Given the description of an element on the screen output the (x, y) to click on. 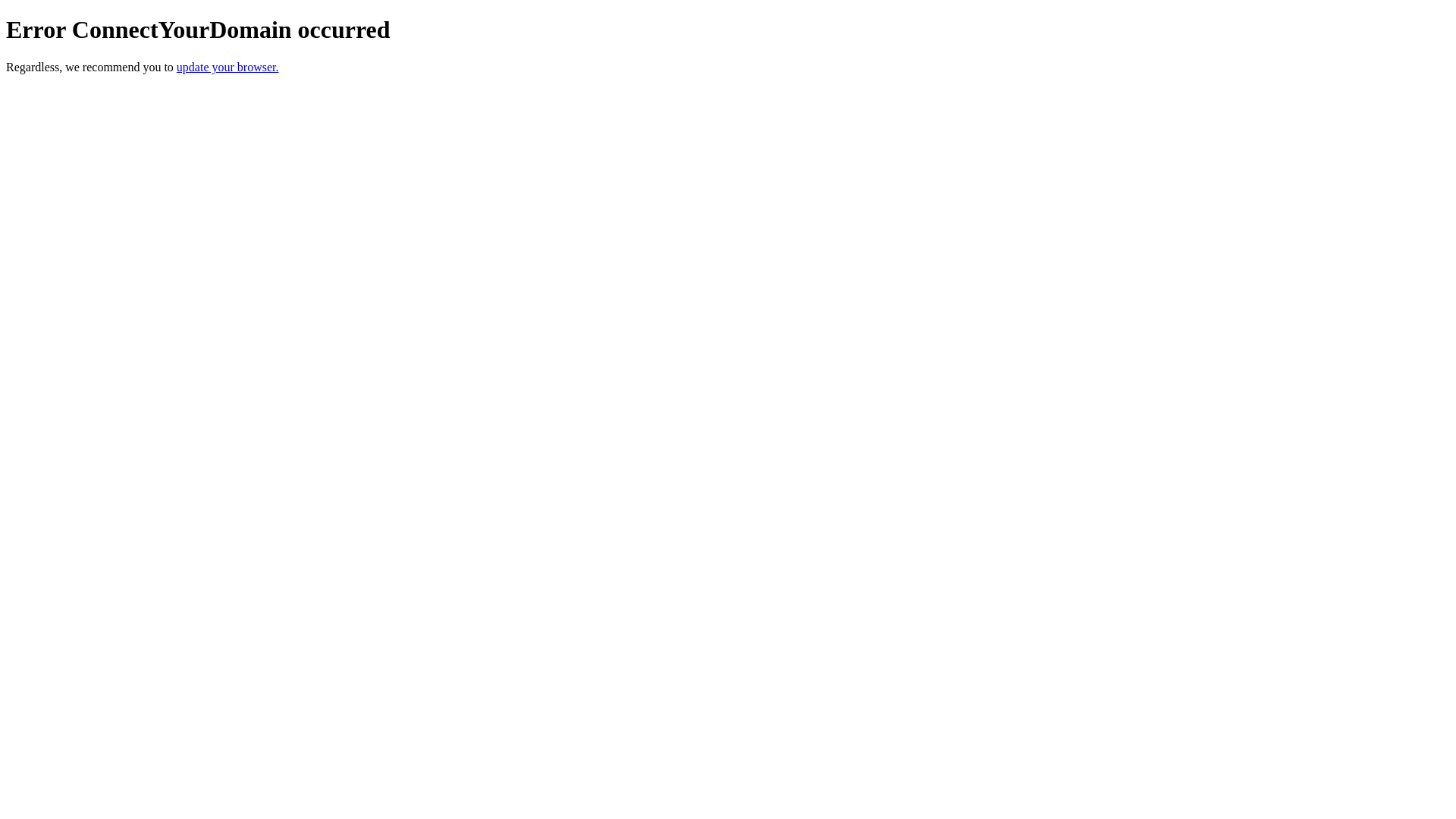
update your browser. Element type: text (227, 66)
